Given the description of an element on the screen output the (x, y) to click on. 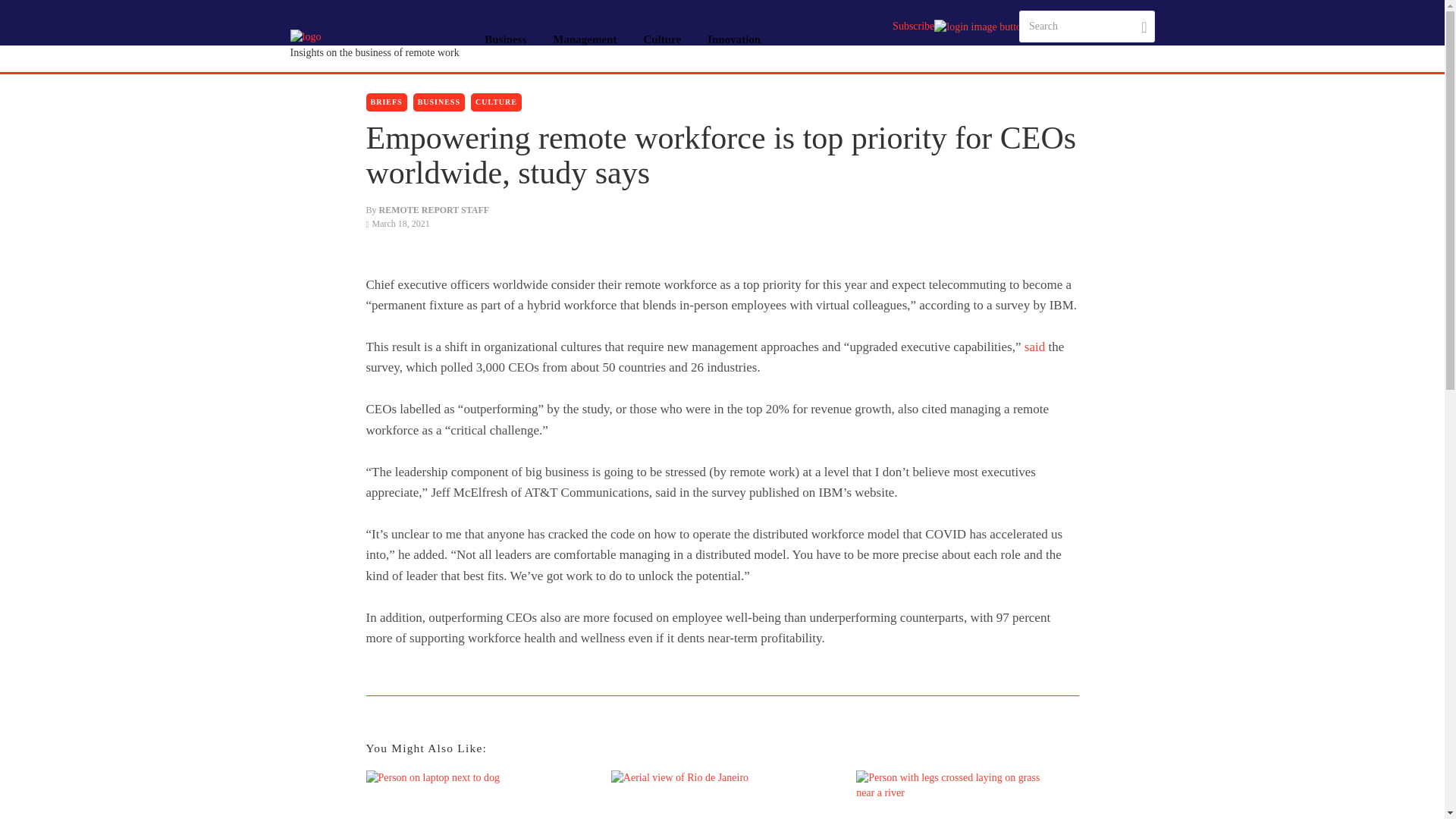
Culture (662, 39)
Subscribe (913, 25)
Innovation (734, 39)
REMOTE REPORT STAFF (433, 209)
Posts by Remote Report Staff (433, 209)
Business (505, 39)
March 18, 2021 at 8:57 am (397, 223)
BRIEFS (385, 102)
CULTURE (495, 102)
member login (976, 27)
